Given the description of an element on the screen output the (x, y) to click on. 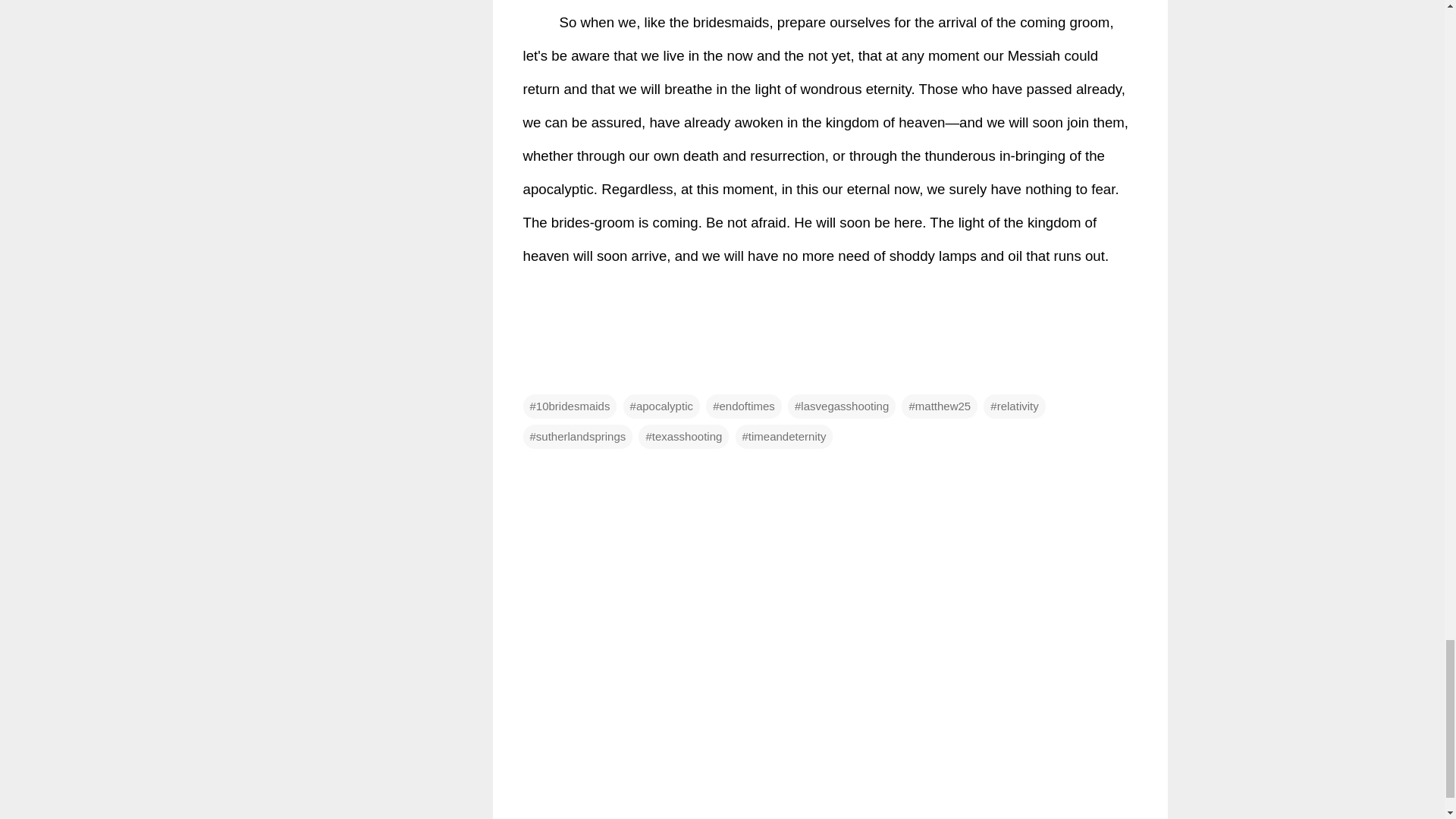
Email Post (531, 375)
